Given the description of an element on the screen output the (x, y) to click on. 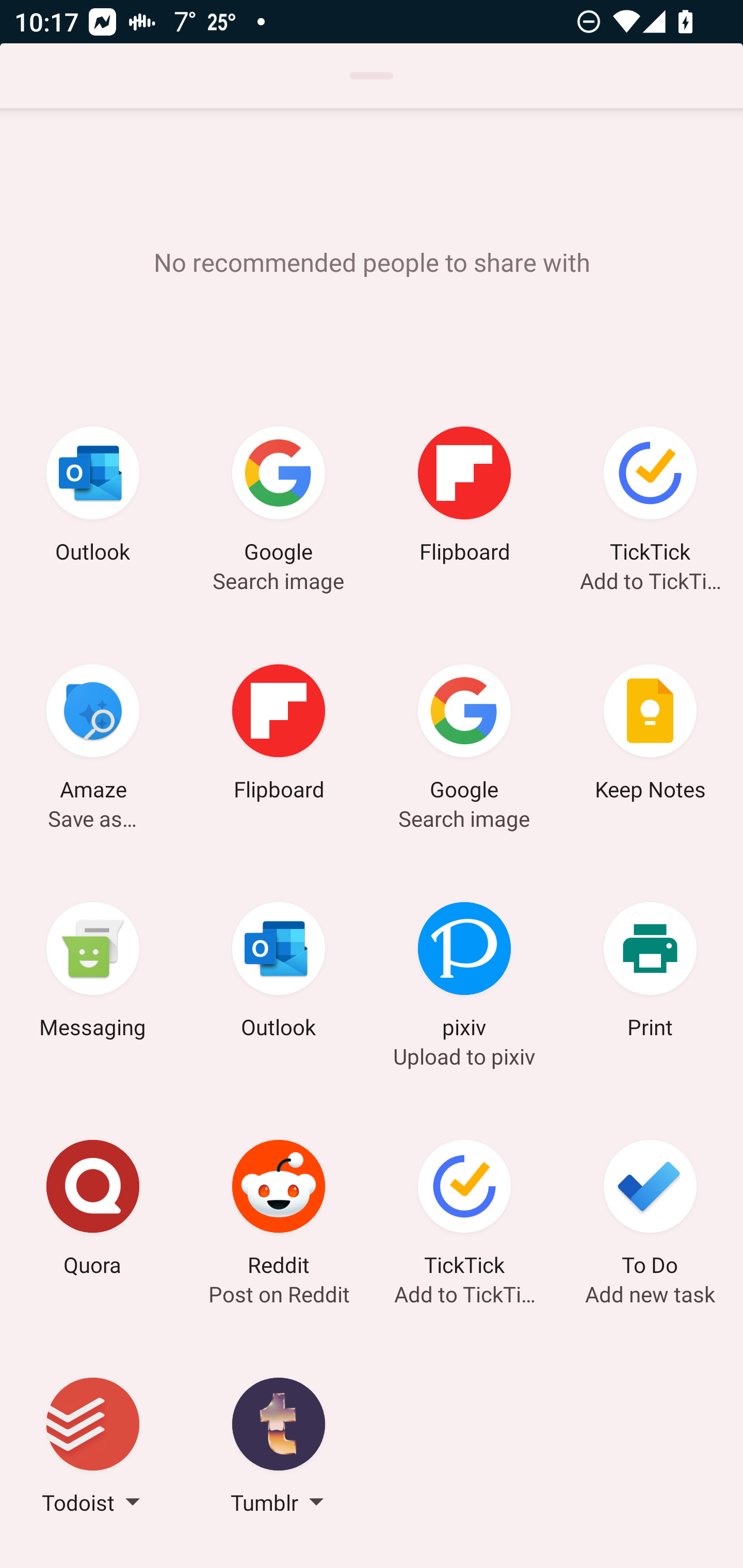
Outlook (92, 497)
Google Search image (278, 497)
Flipboard (464, 497)
TickTick Add to TickTick (650, 497)
Amaze Save as… (92, 735)
Flipboard (278, 735)
Google Search image (464, 735)
Keep Notes (650, 735)
Messaging (92, 973)
Outlook (278, 973)
pixiv Upload to pixiv (464, 973)
Print (650, 973)
Quora (92, 1210)
Reddit Post on Reddit (278, 1210)
TickTick Add to TickTick (464, 1210)
To Do Add new task (650, 1210)
Todoist (92, 1448)
Tumblr (278, 1448)
